Given the description of an element on the screen output the (x, y) to click on. 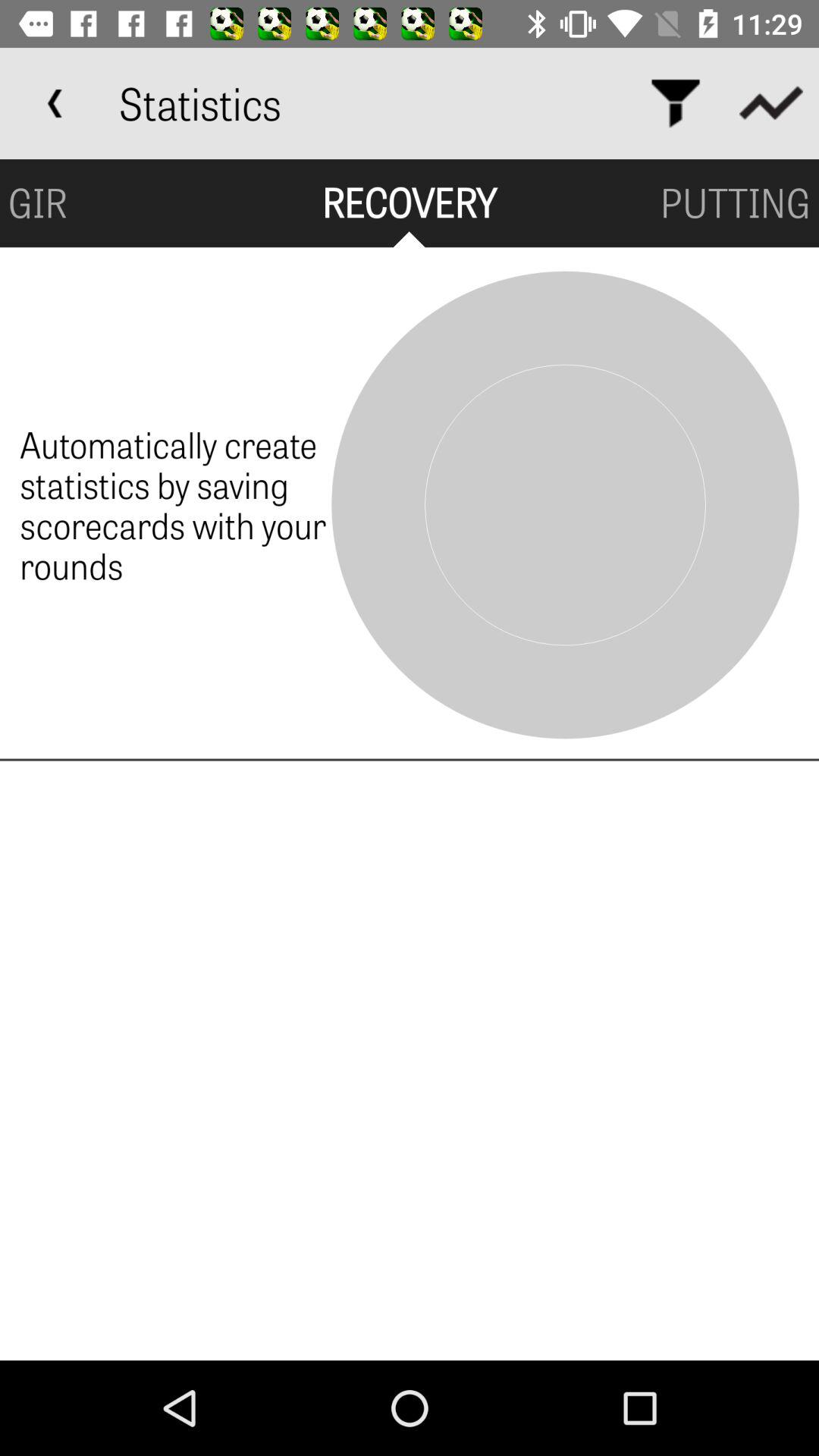
choose the app next to the statistics app (55, 103)
